Given the description of an element on the screen output the (x, y) to click on. 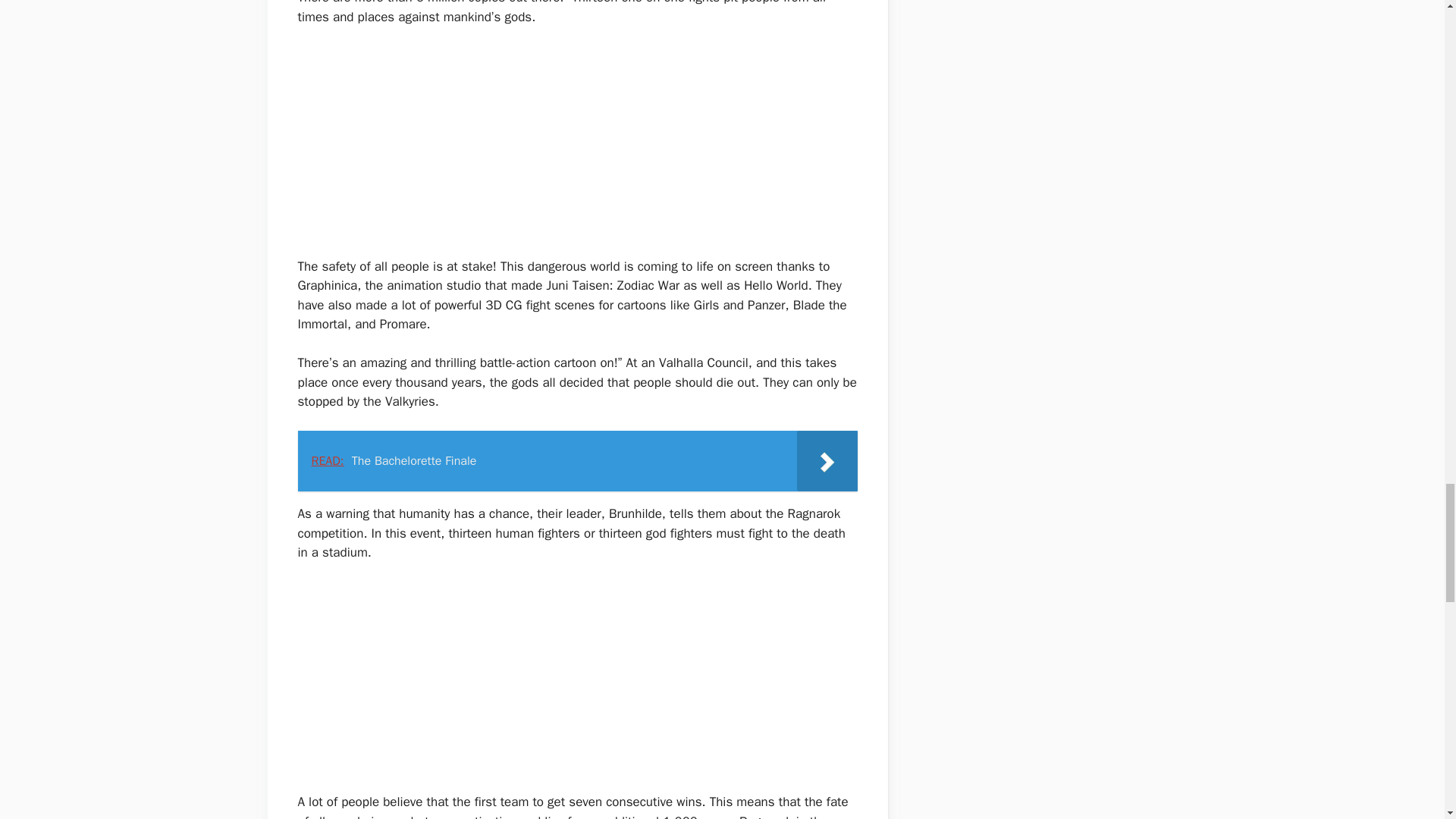
READ:  The Bachelorette Finale (577, 460)
